Given the description of an element on the screen output the (x, y) to click on. 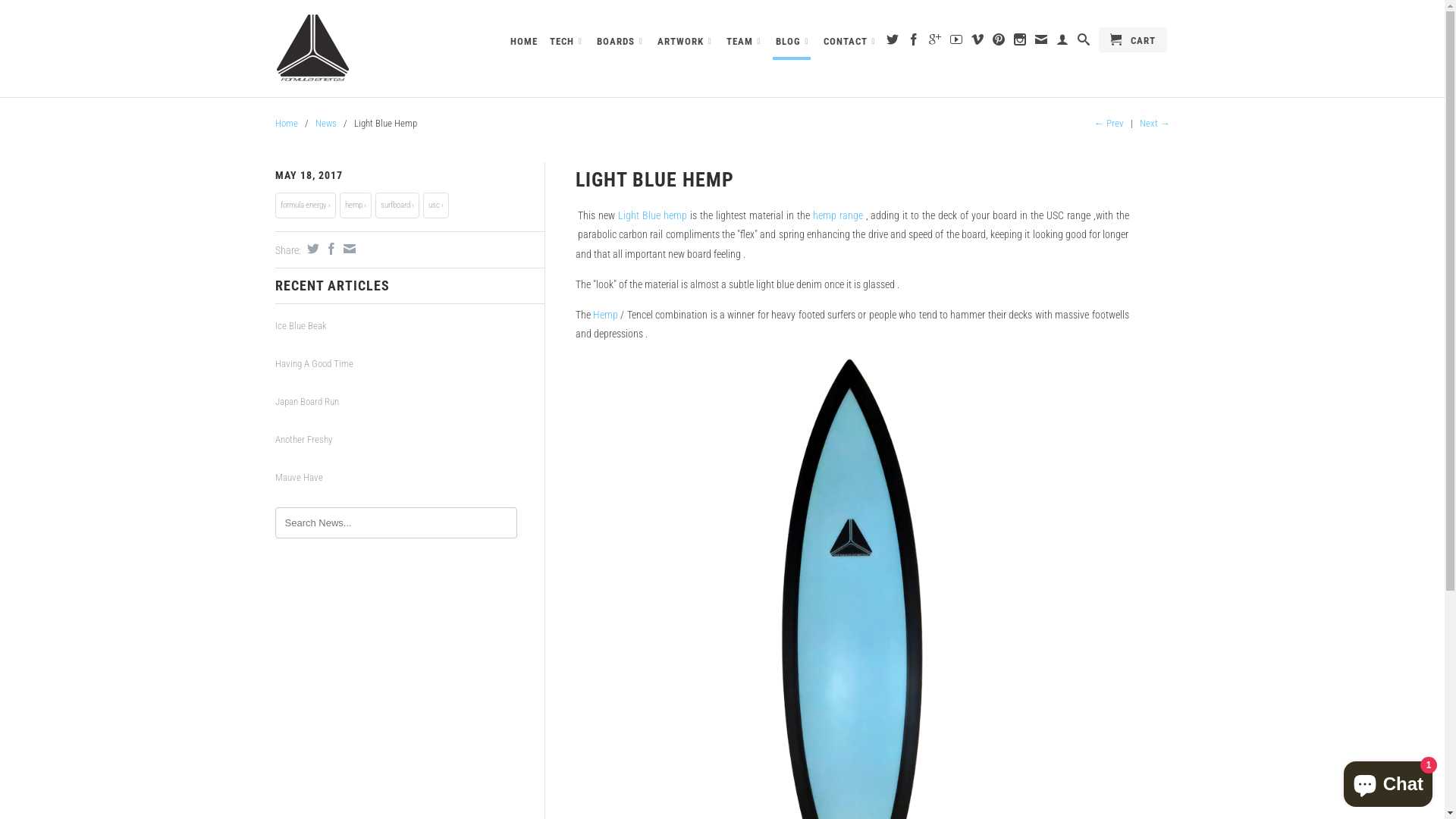
Shopify online store chat Element type: hover (1388, 780)
Japan Board Run Element type: text (408, 401)
Home Element type: text (285, 122)
Another Freshy Element type: text (408, 439)
Formula Energy on Twitter Element type: hover (891, 42)
Light Blue hemp Element type: text (652, 215)
Share this on Facebook Element type: hover (329, 248)
Formula Energy on YouTube Element type: hover (955, 42)
Formula Energy on Instagram Element type: hover (1019, 42)
Mauve Have Element type: text (408, 477)
Formula Energy on Google+ Element type: hover (934, 42)
Formula Energy on Vimeo Element type: hover (976, 42)
LIGHT BLUE HEMP Element type: text (653, 179)
Having A Good Time Element type: text (408, 363)
News Element type: text (325, 122)
hemp range Element type: text (837, 215)
Search Element type: hover (1082, 42)
Formula Energy on Facebook Element type: hover (912, 42)
Share this on Twitter Element type: hover (311, 248)
Formula Energy Element type: hover (380, 48)
Formula Energy on Pinterest Element type: hover (997, 42)
Hemp Element type: text (605, 314)
Email this to a friend Element type: hover (347, 248)
HOME Element type: text (523, 44)
Email Formula Energy Element type: hover (1040, 42)
Ice Blue Beak Element type: text (408, 325)
My Account  Element type: hover (1061, 42)
CART Element type: text (1132, 39)
